Given the description of an element on the screen output the (x, y) to click on. 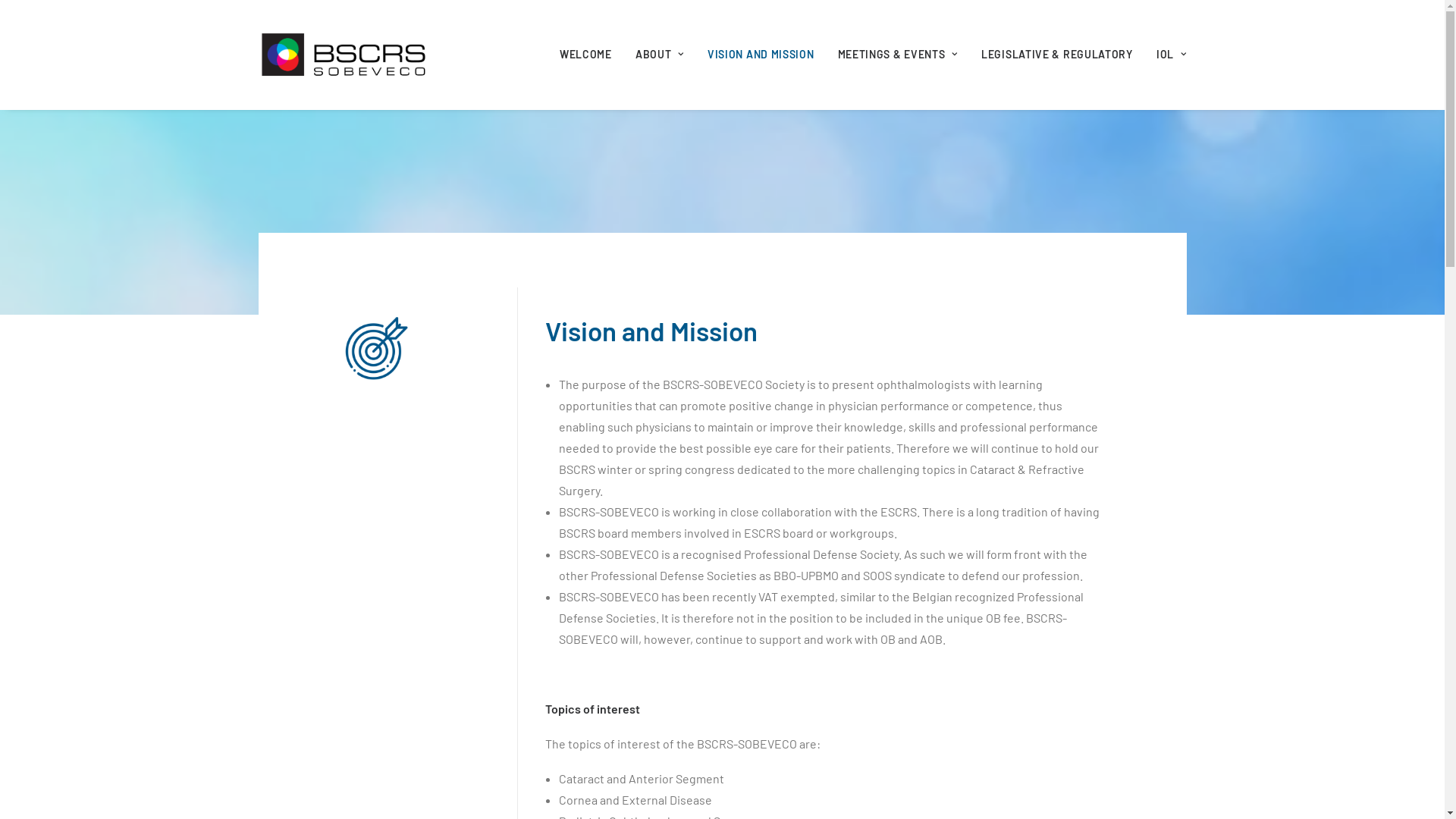
LEGISLATIVE & REGULATORY Element type: text (1056, 54)
WELCOME Element type: text (590, 54)
IOL Element type: text (1165, 54)
ABOUT Element type: text (659, 54)
MEETINGS & EVENTS Element type: text (897, 54)
VISION AND MISSION Element type: text (760, 54)
